Given the description of an element on the screen output the (x, y) to click on. 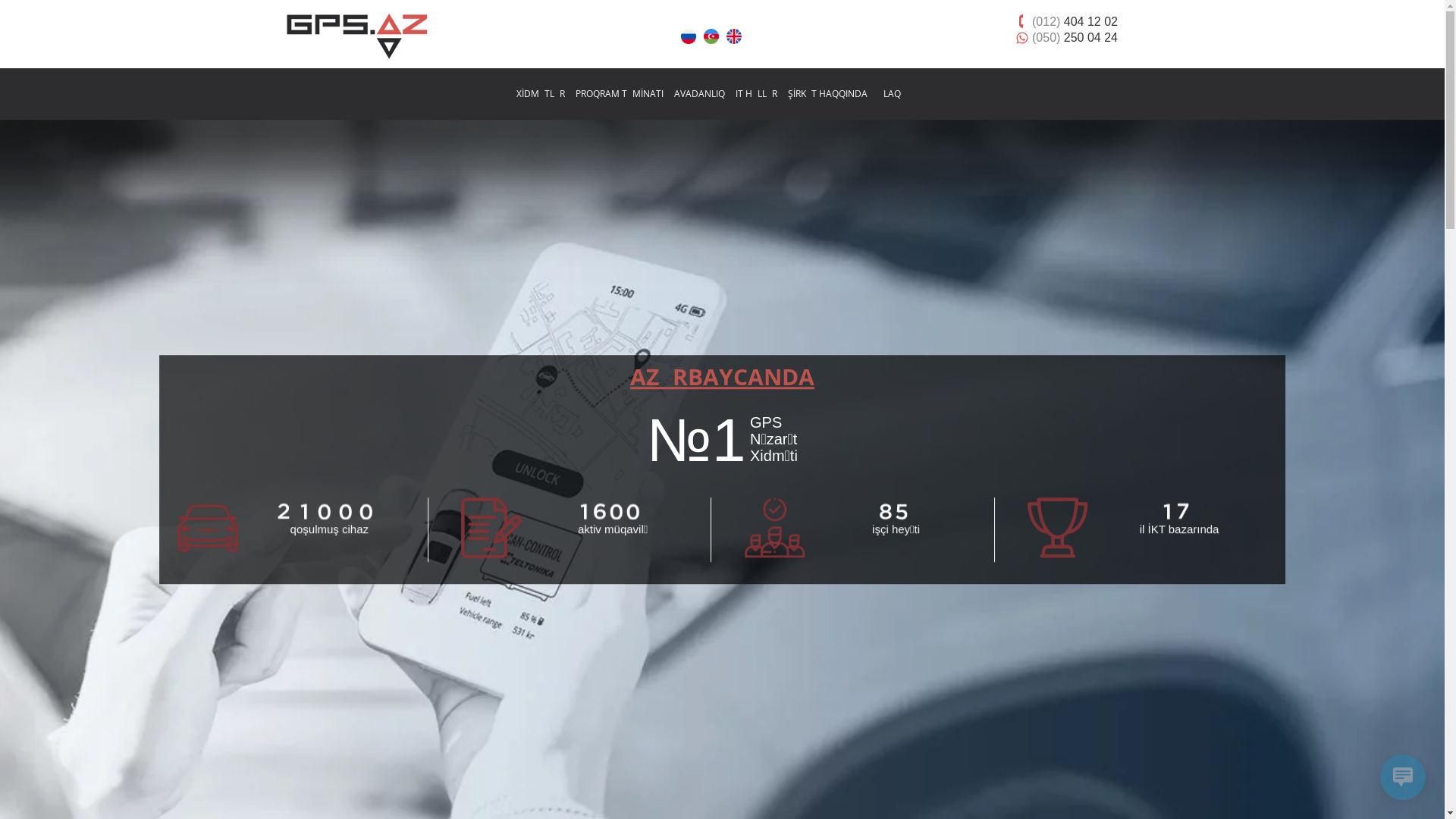
(050) 250 04 24 Element type: text (1074, 37)
AVADANLIQ Element type: text (698, 93)
(012) 404 12 02 Element type: text (1074, 21)
